Given the description of an element on the screen output the (x, y) to click on. 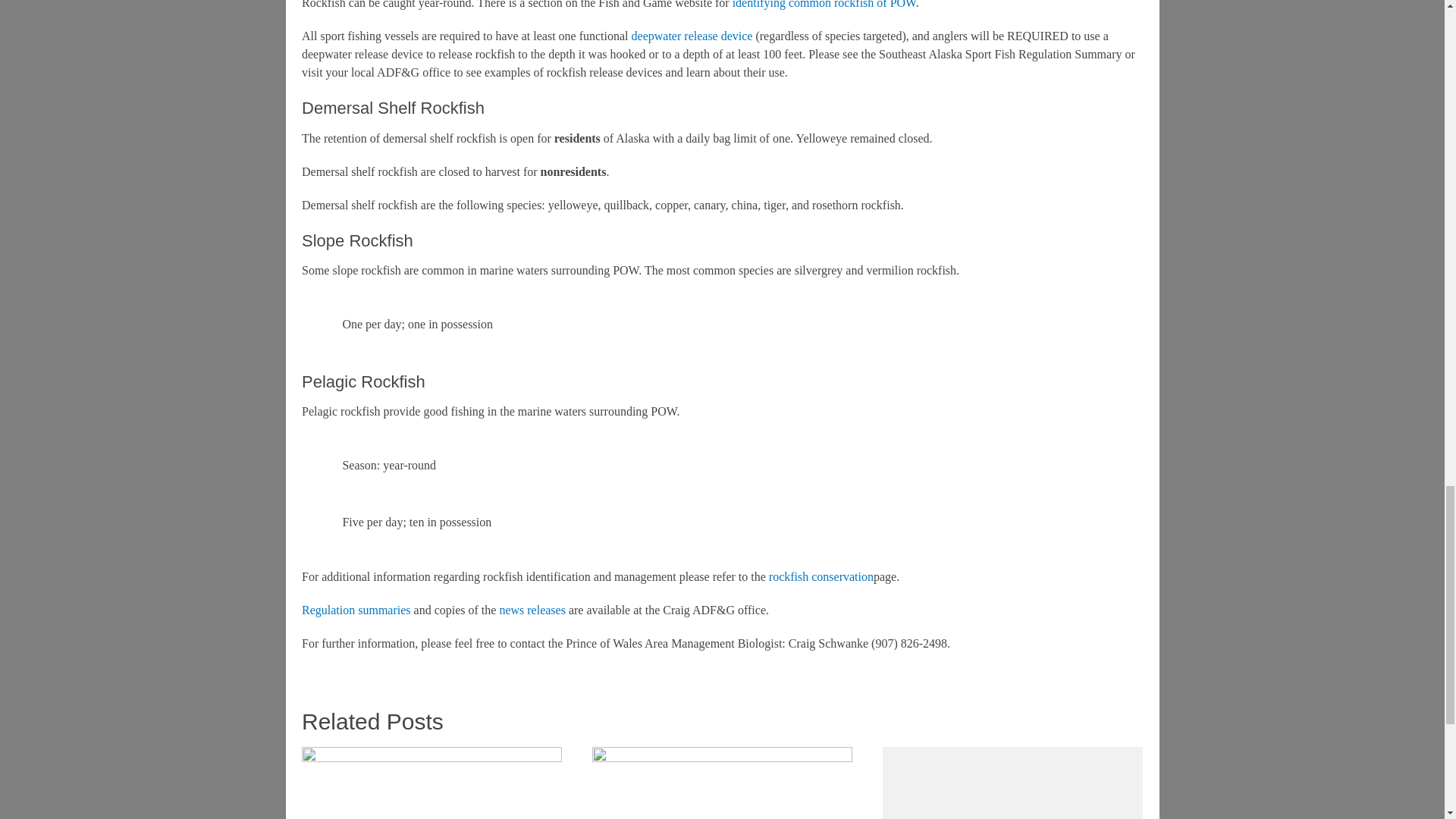
identifying common rockfish of POW (823, 4)
deepwater release device (691, 35)
Alaska Salmon 2011: Not Too Shabby (430, 782)
